Given the description of an element on the screen output the (x, y) to click on. 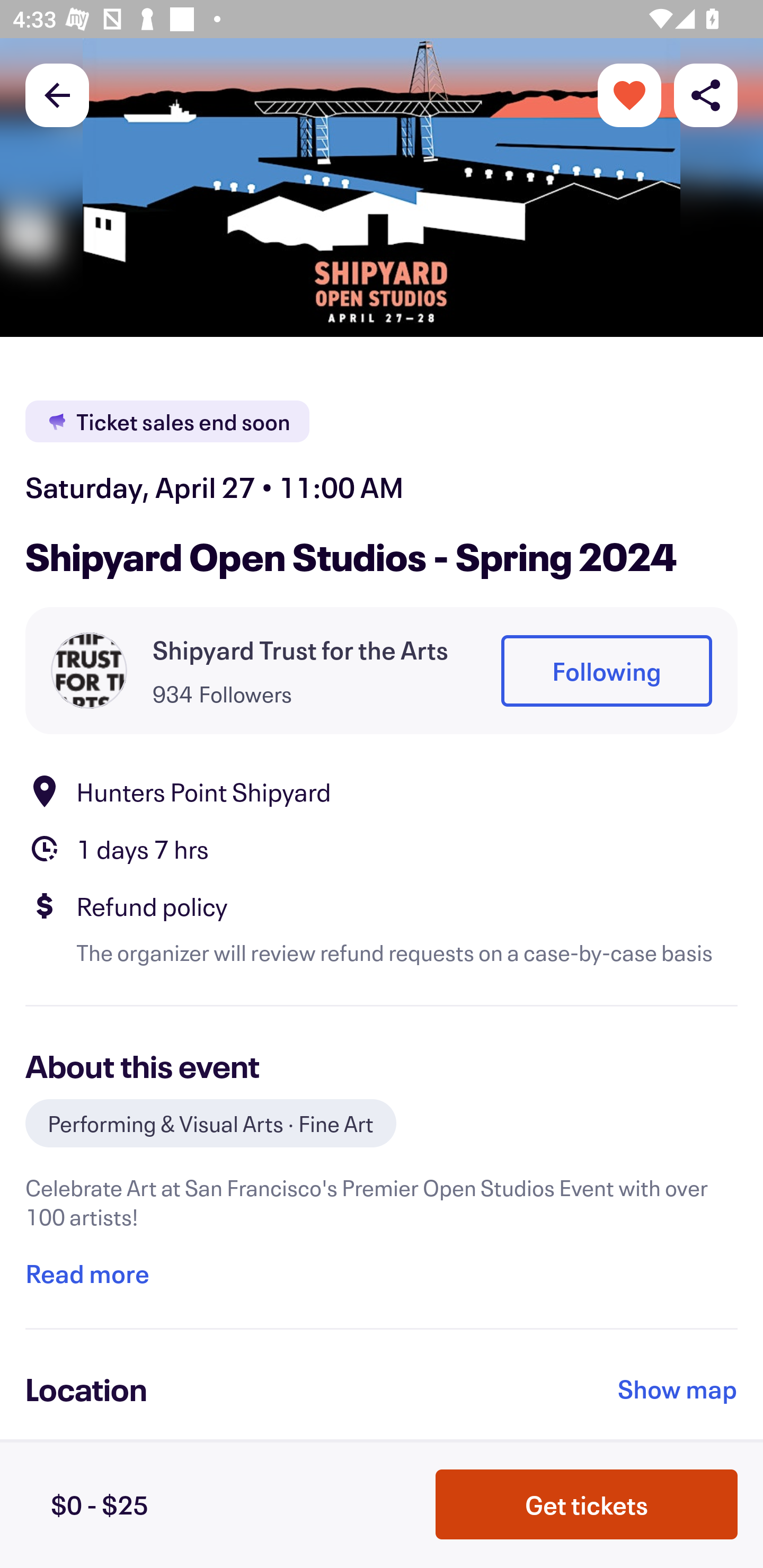
Back (57, 94)
More (629, 94)
Share (705, 94)
Shipyard Trust for the Arts (300, 649)
Organizer profile picture (89, 669)
Following (606, 670)
Location Hunters Point Shipyard (381, 790)
Read more (87, 1272)
Show map (677, 1388)
Get tickets (586, 1504)
